Given the description of an element on the screen output the (x, y) to click on. 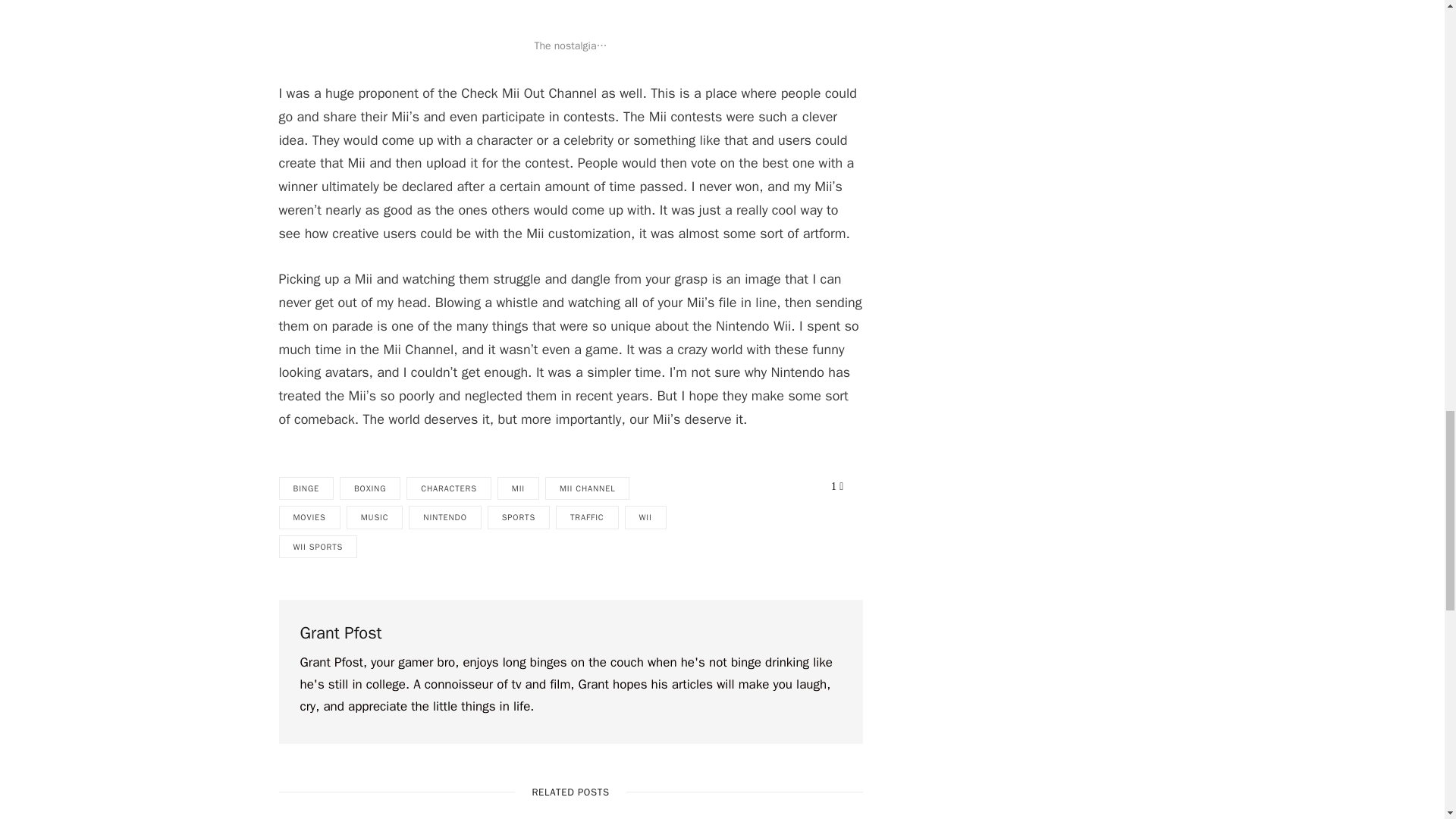
MOVIES (309, 517)
TRAFFIC (586, 517)
BOXING (369, 488)
1 (833, 486)
Posts by Grant Pfost (340, 633)
MII (517, 488)
MII CHANNEL (586, 488)
CHARACTERS (449, 488)
SPORTS (518, 517)
Facebook (841, 486)
NINTENDO (444, 517)
MUSIC (374, 517)
BINGE (306, 488)
WII SPORTS (318, 546)
WII (645, 517)
